Given the description of an element on the screen output the (x, y) to click on. 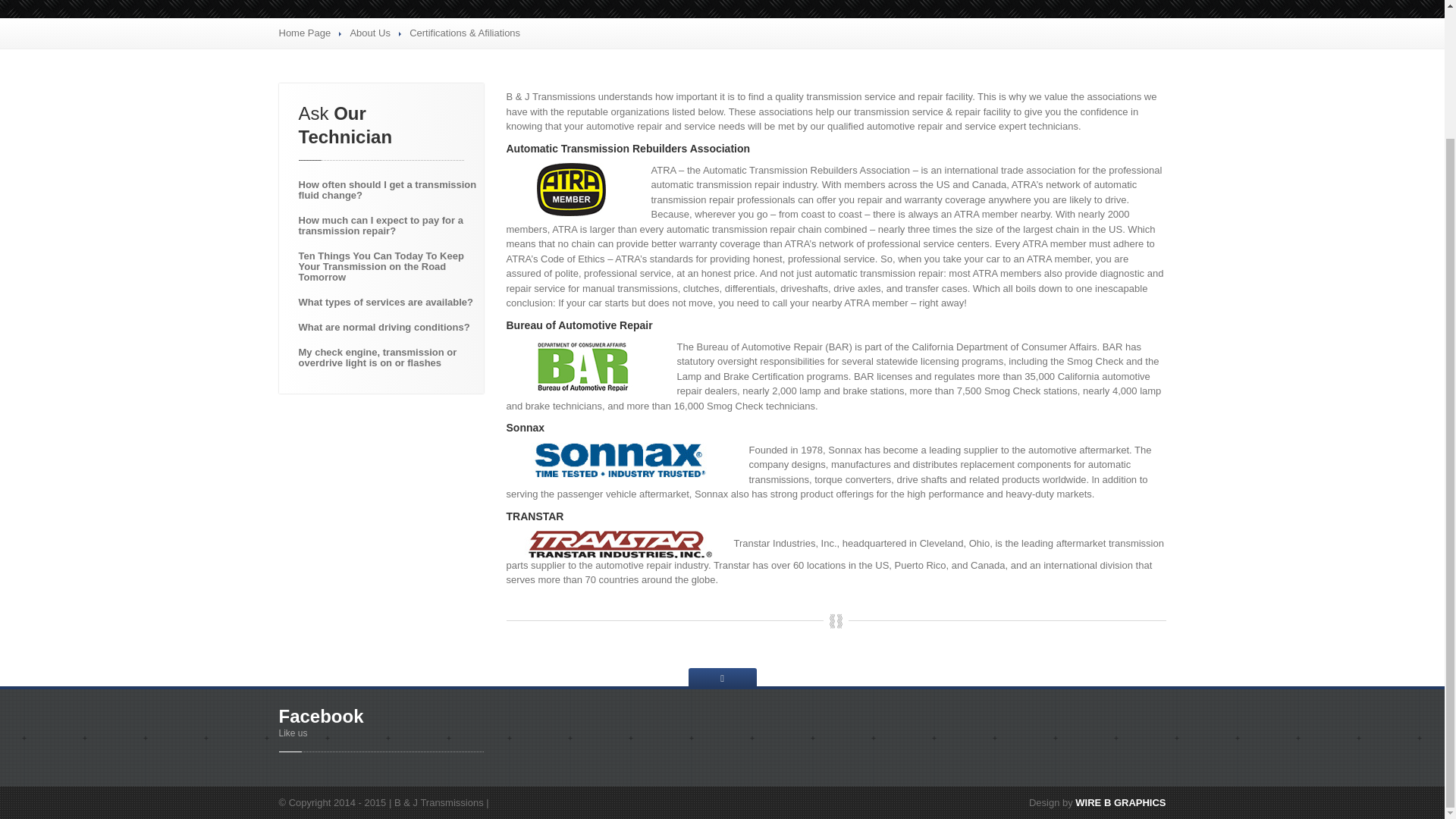
About Us (369, 32)
Home Page (305, 32)
How often should I get a transmission fluid change? (386, 190)
How much can I expect to pay for a transmission repair? (386, 225)
What are normal driving conditions? (386, 327)
WIRE B GRAPHICS (1120, 802)
What types of services are available? (386, 302)
